Given the description of an element on the screen output the (x, y) to click on. 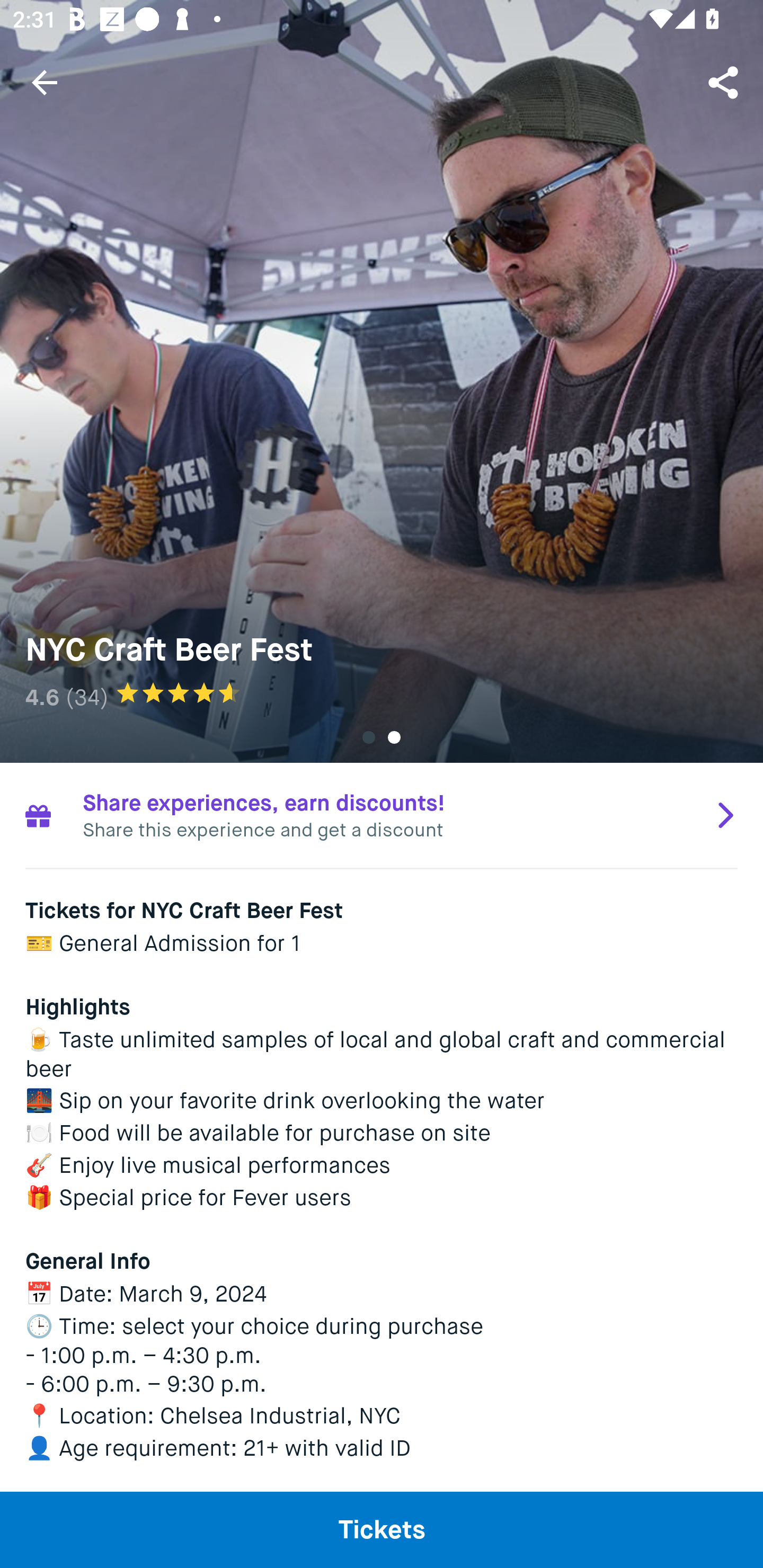
Navigate up (44, 82)
Share (724, 81)
(34) (86, 697)
Tickets (381, 1529)
